Given the description of an element on the screen output the (x, y) to click on. 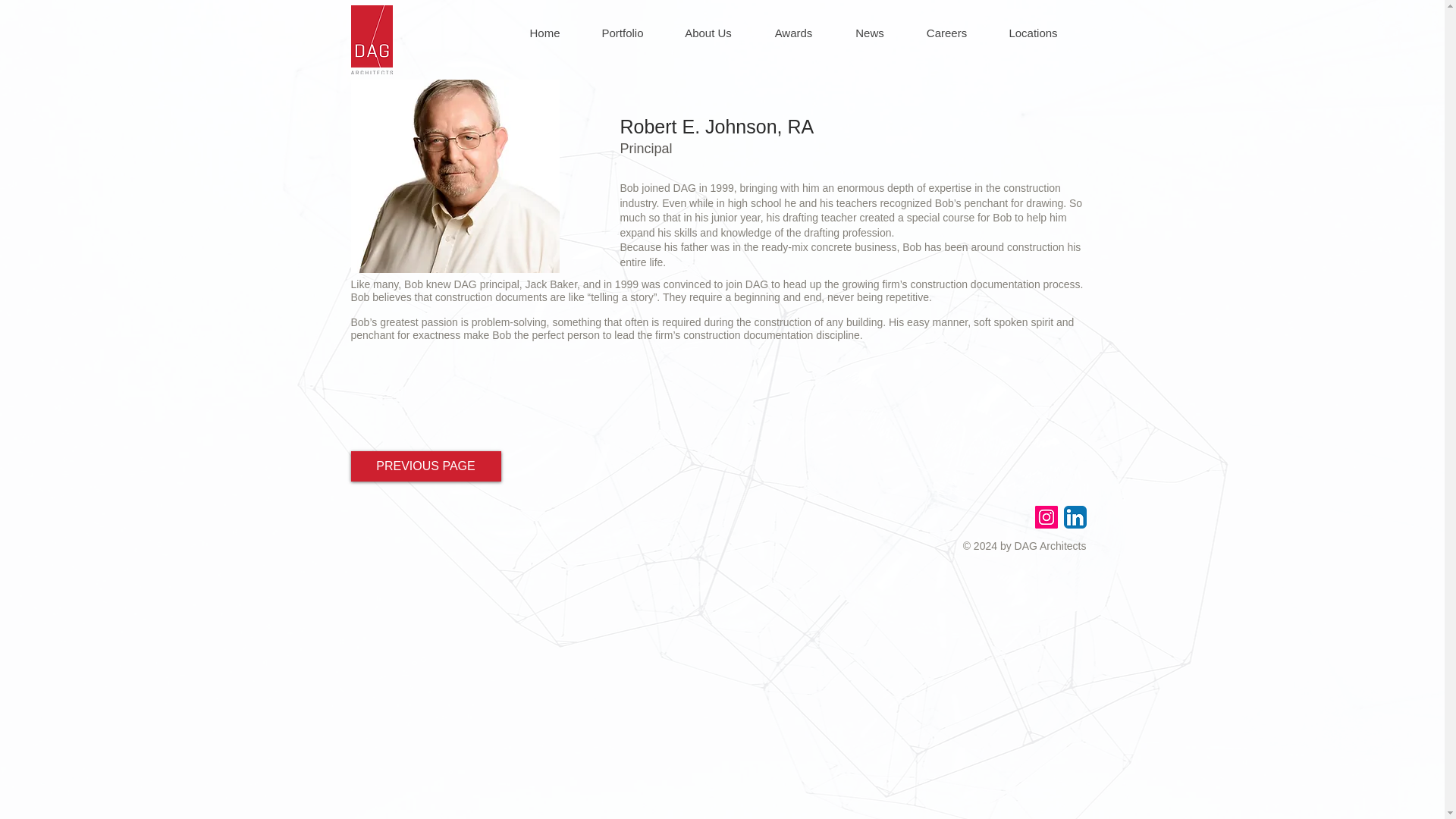
Site Search (1148, 38)
News (869, 32)
Home (544, 32)
Locations (1032, 32)
About Us (707, 32)
Portfolio (621, 32)
Awards (792, 32)
PREVIOUS PAGE (425, 466)
Careers (946, 32)
